Given the description of an element on the screen output the (x, y) to click on. 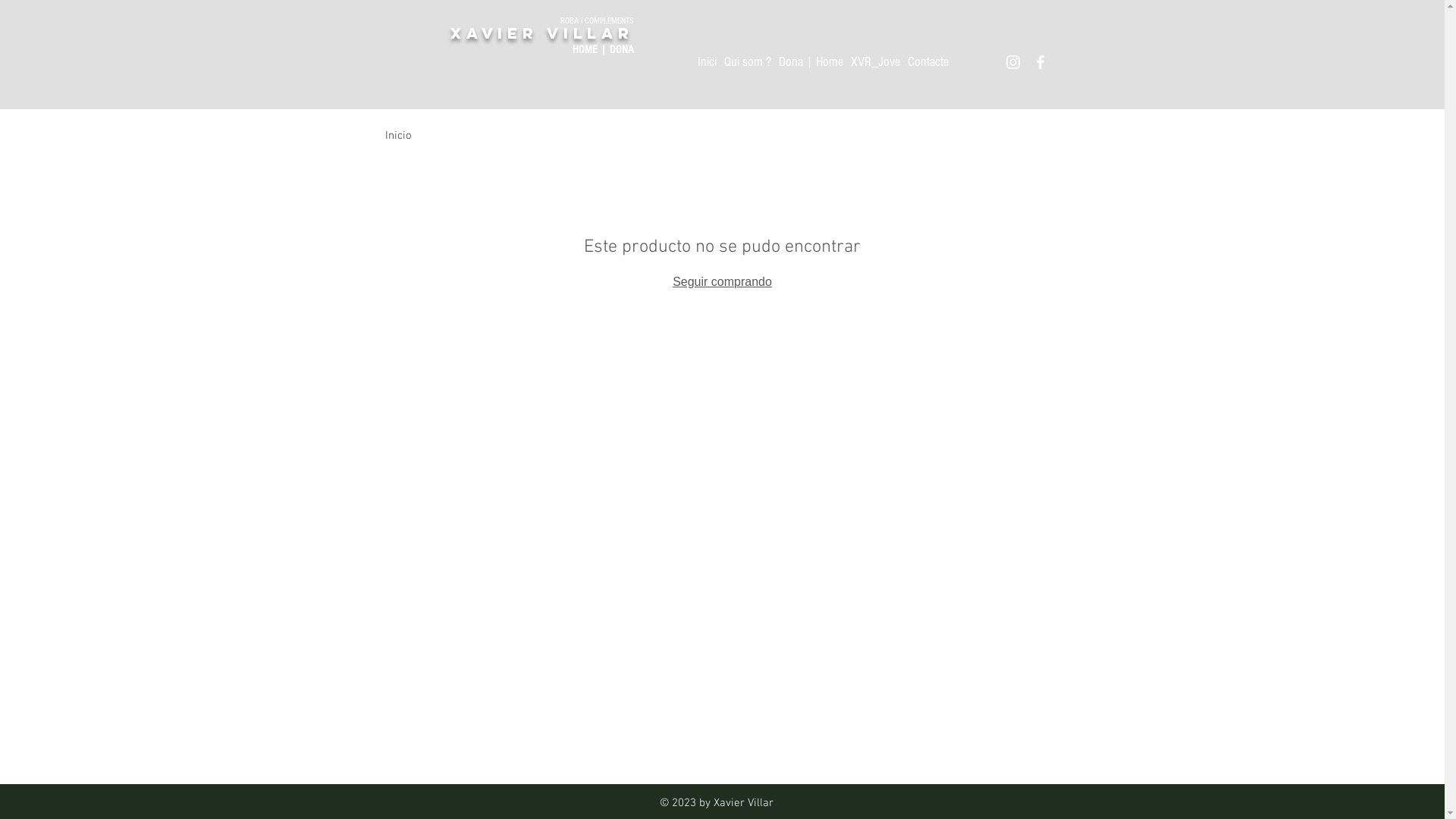
XAVIER VILLAR Element type: text (541, 32)
Qui som ? Element type: text (746, 62)
Inici Element type: text (706, 62)
XVR_Jove Element type: text (875, 62)
Contacte Element type: text (926, 62)
Seguir comprando Element type: text (721, 281)
Dona | Home Element type: text (810, 62)
Inici Element type: text (395, 135)
